Given the description of an element on the screen output the (x, y) to click on. 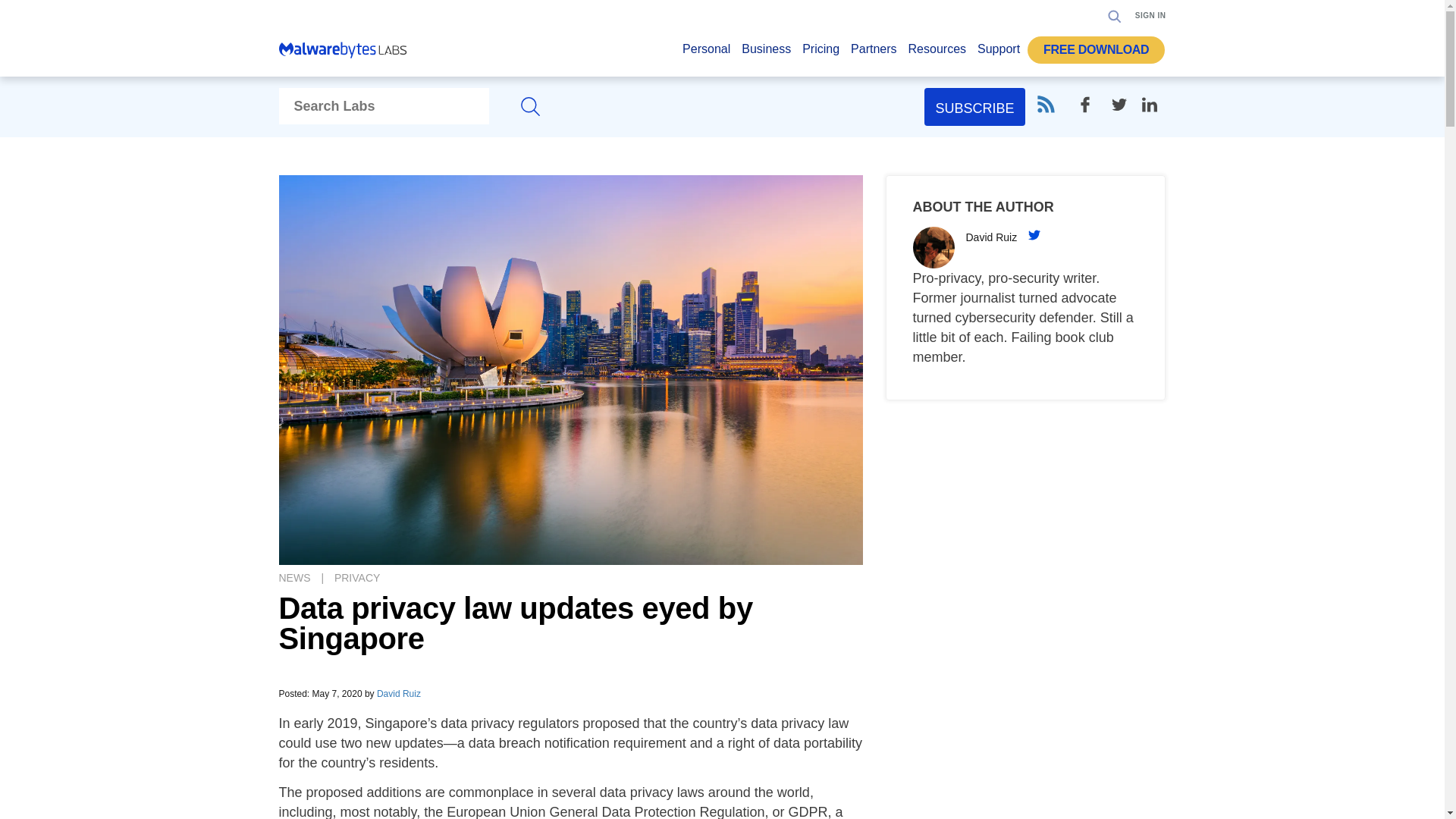
Search (1110, 62)
Search (1114, 15)
SIGN IN (1150, 15)
rss (1044, 104)
Personal (706, 52)
Business (765, 52)
